Given the description of an element on the screen output the (x, y) to click on. 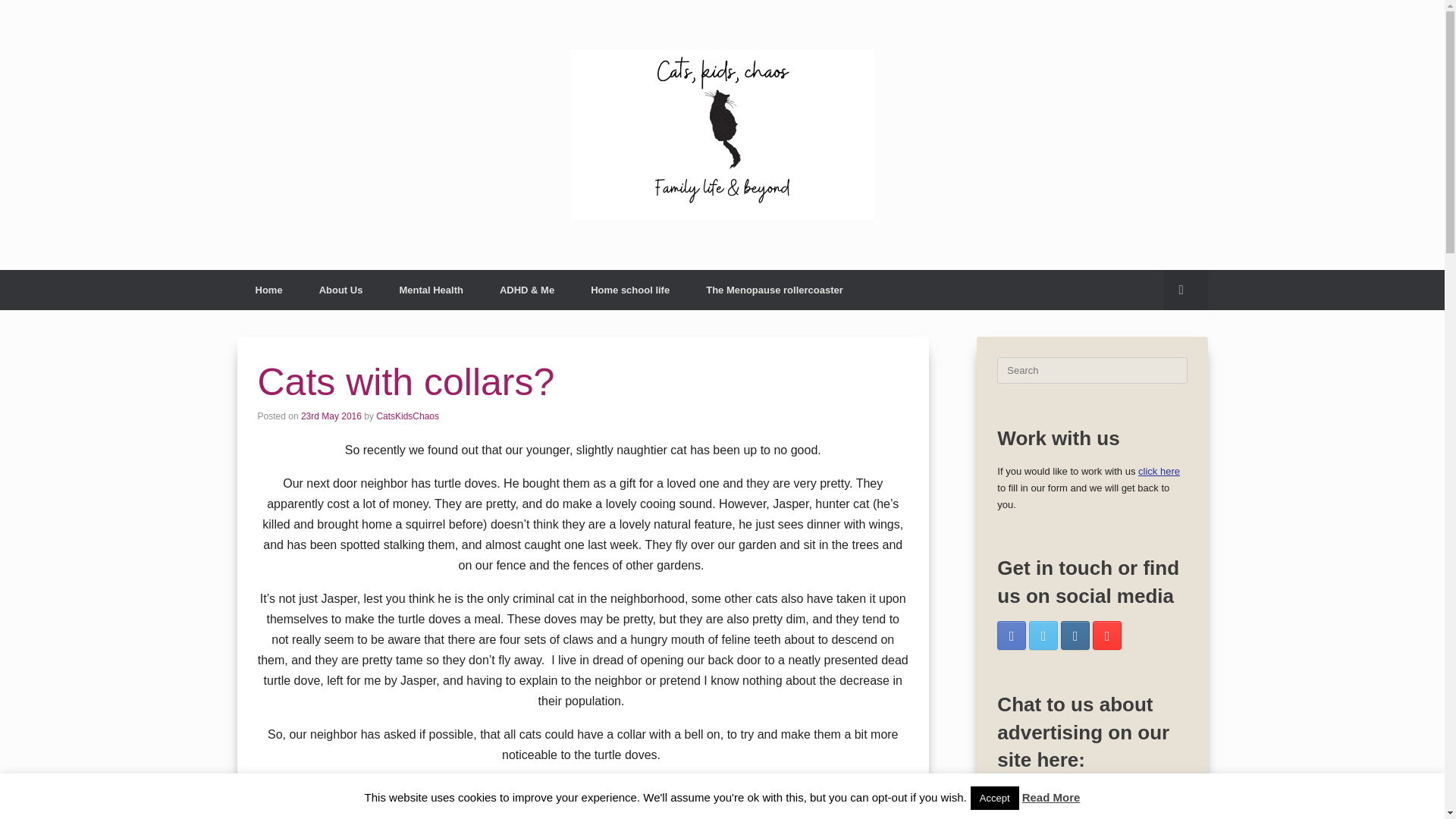
Home (267, 290)
The Menopause rollercoaster (774, 290)
CatsKidsChaos (407, 416)
Home school life (629, 290)
CatsKidsChaos Facebook (1011, 635)
9:07 am (331, 416)
click here (1158, 471)
View all posts by CatsKidsChaos (407, 416)
CatsKidsChaos Pinterest (1107, 635)
About Us (341, 290)
Mental Health (430, 290)
CatsKidsChaos Instagram (1075, 635)
23rd May 2016 (331, 416)
